Given the description of an element on the screen output the (x, y) to click on. 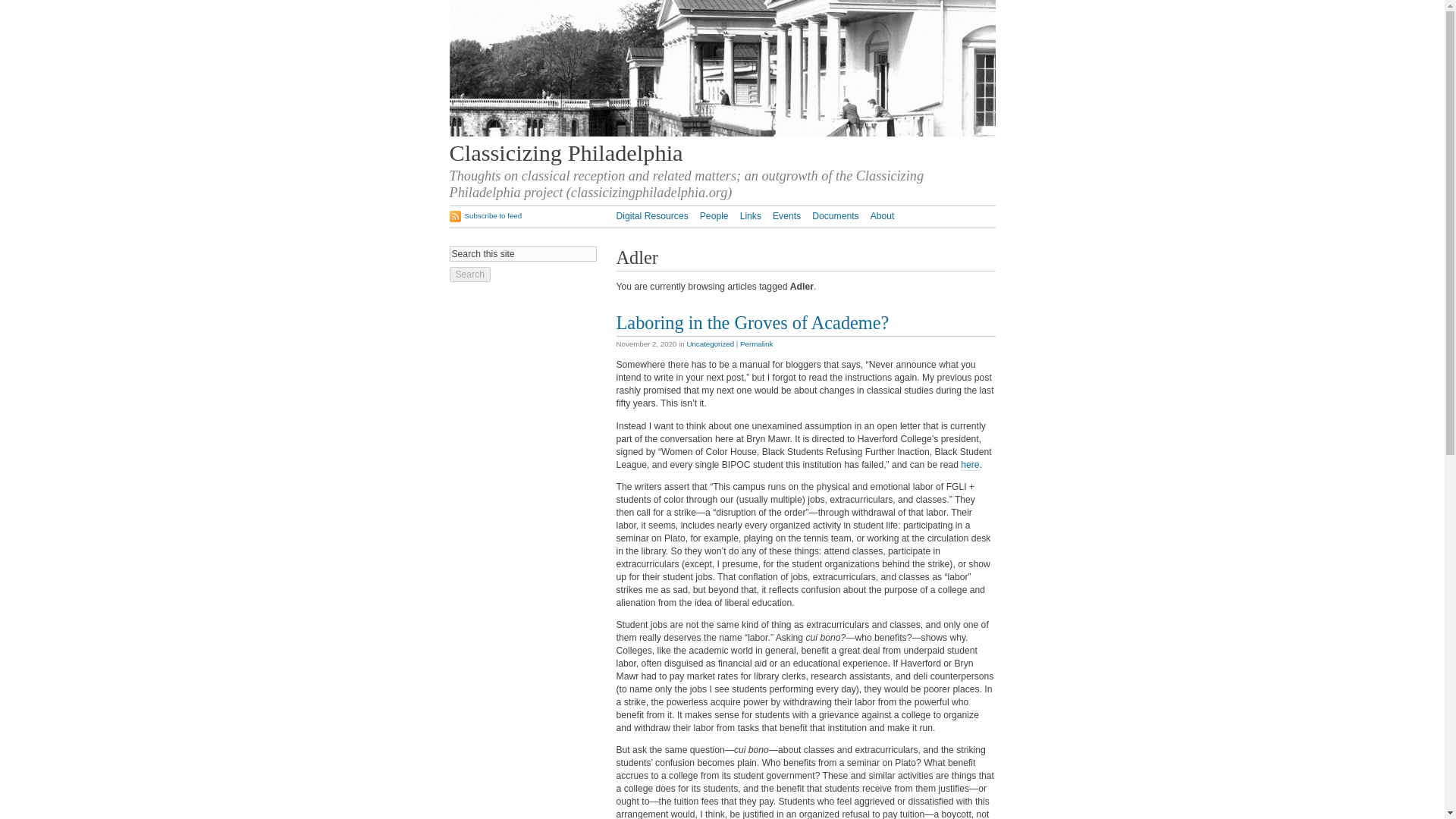
Uncategorized (709, 343)
Permalink (756, 343)
Documents (835, 215)
Return to main page (721, 132)
here (969, 464)
Links (750, 215)
About (882, 215)
Subscribe to feed (484, 215)
Permanent link to Laboring in the Groves of Academe? (751, 322)
Events (786, 215)
Classicizing Philadelphia (565, 153)
People (714, 215)
Laboring in the Groves of Academe? (751, 322)
Search (469, 273)
Digital Resources (651, 215)
